Given the description of an element on the screen output the (x, y) to click on. 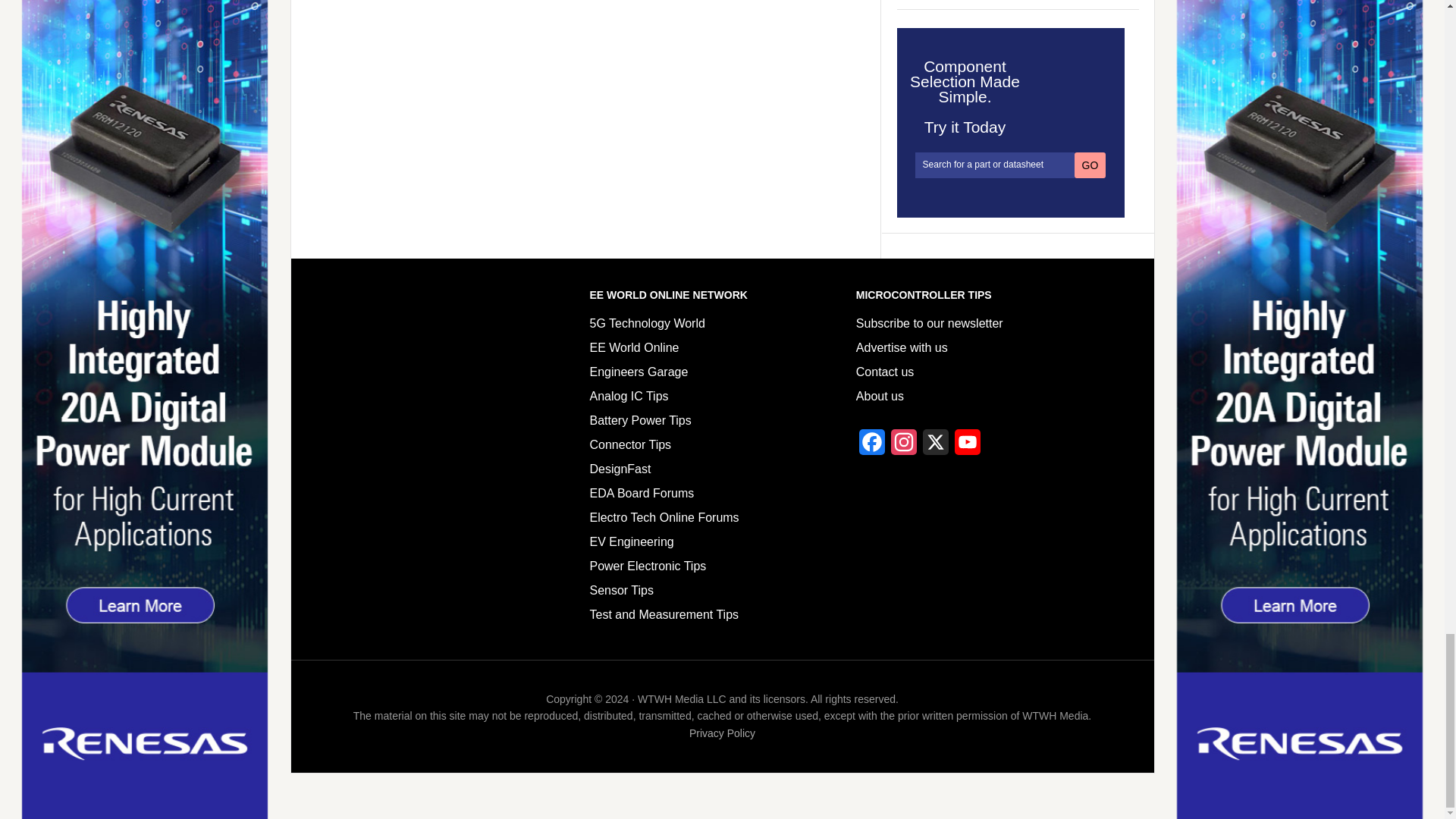
X (936, 446)
Facebook (872, 446)
YouTube Channel (968, 446)
GO (1090, 165)
Instagram (904, 446)
